Given the description of an element on the screen output the (x, y) to click on. 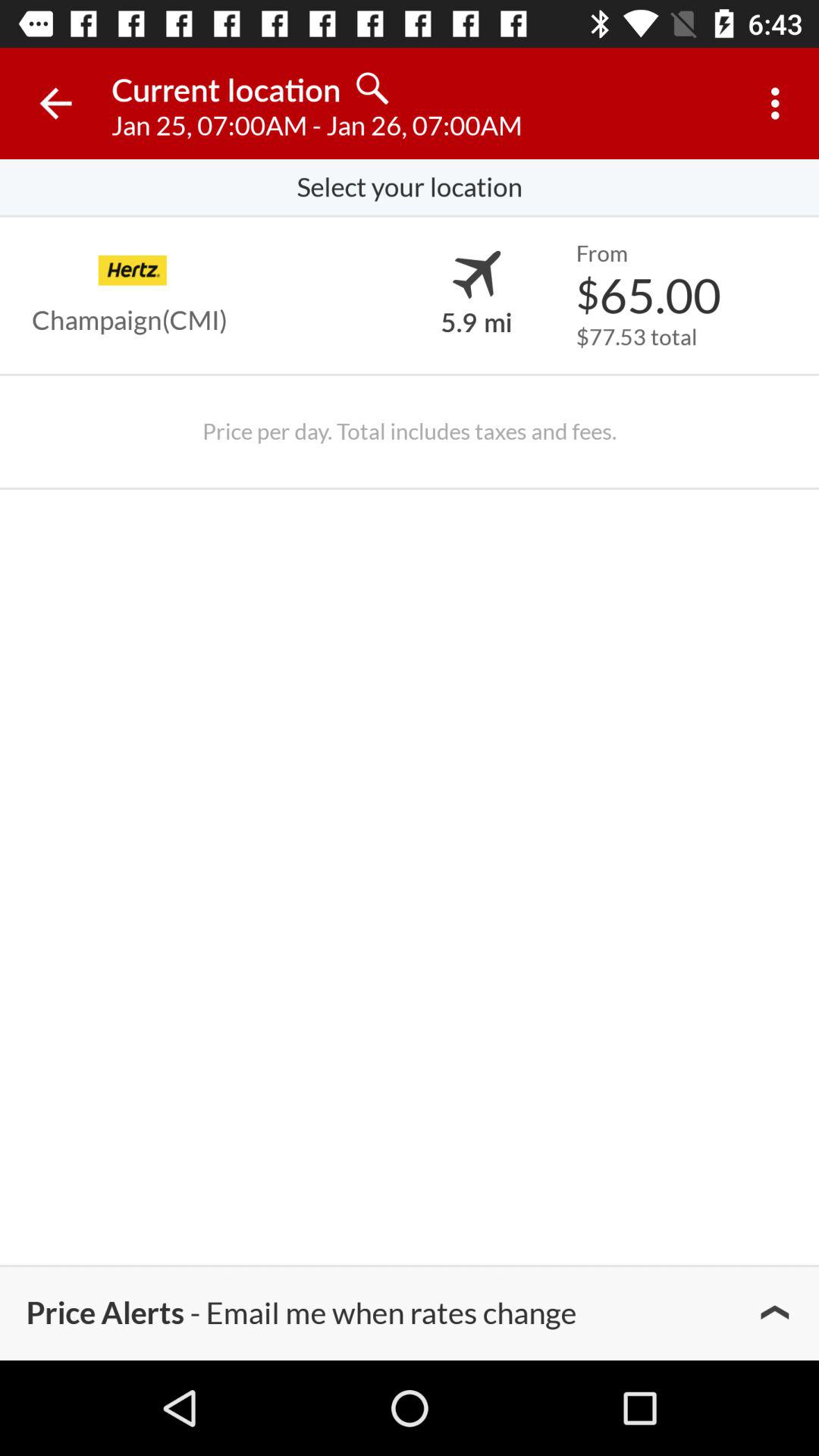
choose the icon next to the jan 25 07 icon (779, 103)
